Given the description of an element on the screen output the (x, y) to click on. 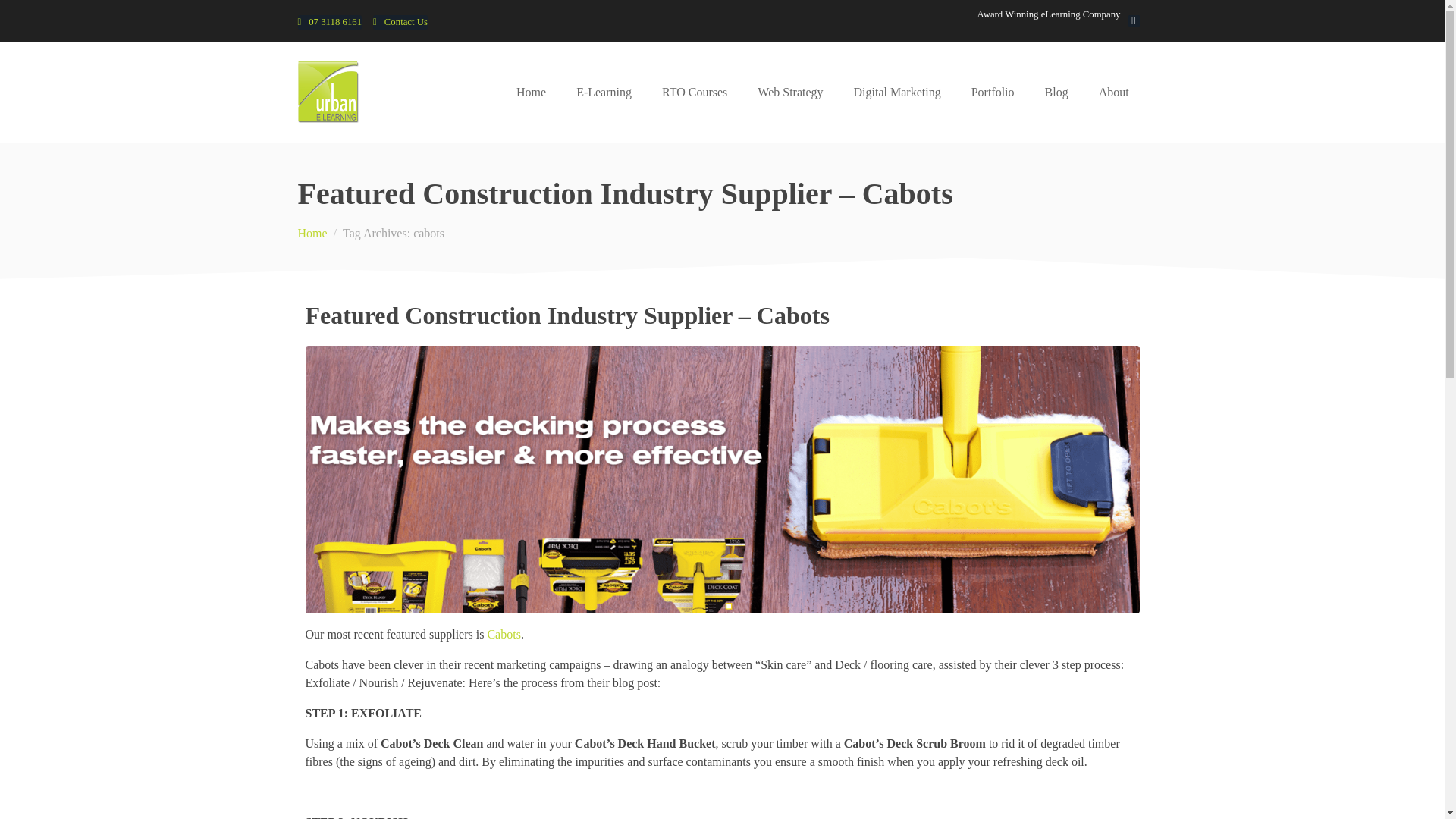
Digital Marketing (897, 92)
E-Learning (603, 92)
Contact Us (400, 22)
Blog (1056, 92)
RTO Courses (694, 92)
07 3118 6161 (329, 22)
Home (530, 92)
About (1113, 92)
Portfolio (992, 92)
Web Strategy (790, 92)
